Given the description of an element on the screen output the (x, y) to click on. 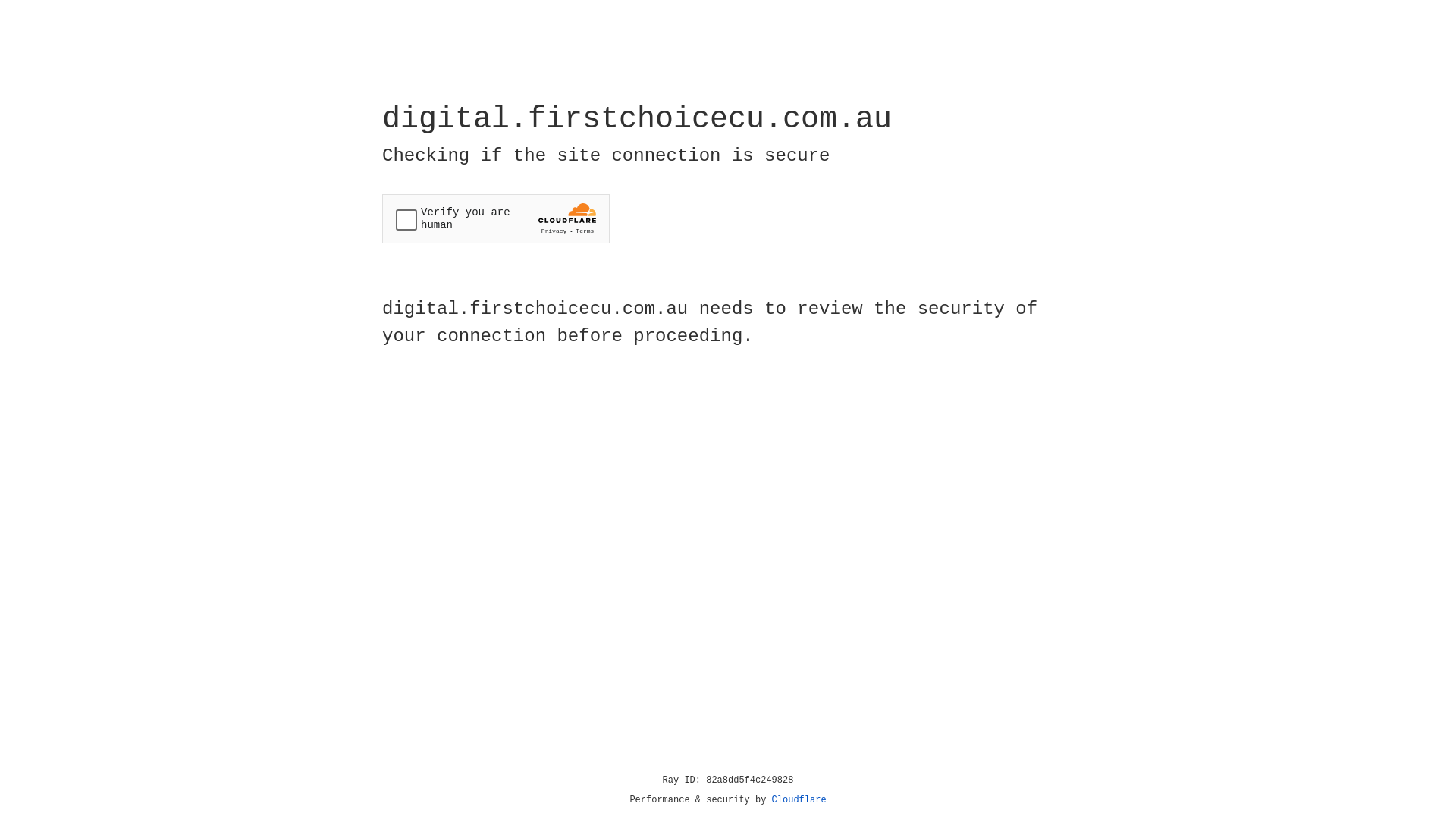
Widget containing a Cloudflare security challenge Element type: hover (495, 218)
Cloudflare Element type: text (798, 799)
